Given the description of an element on the screen output the (x, y) to click on. 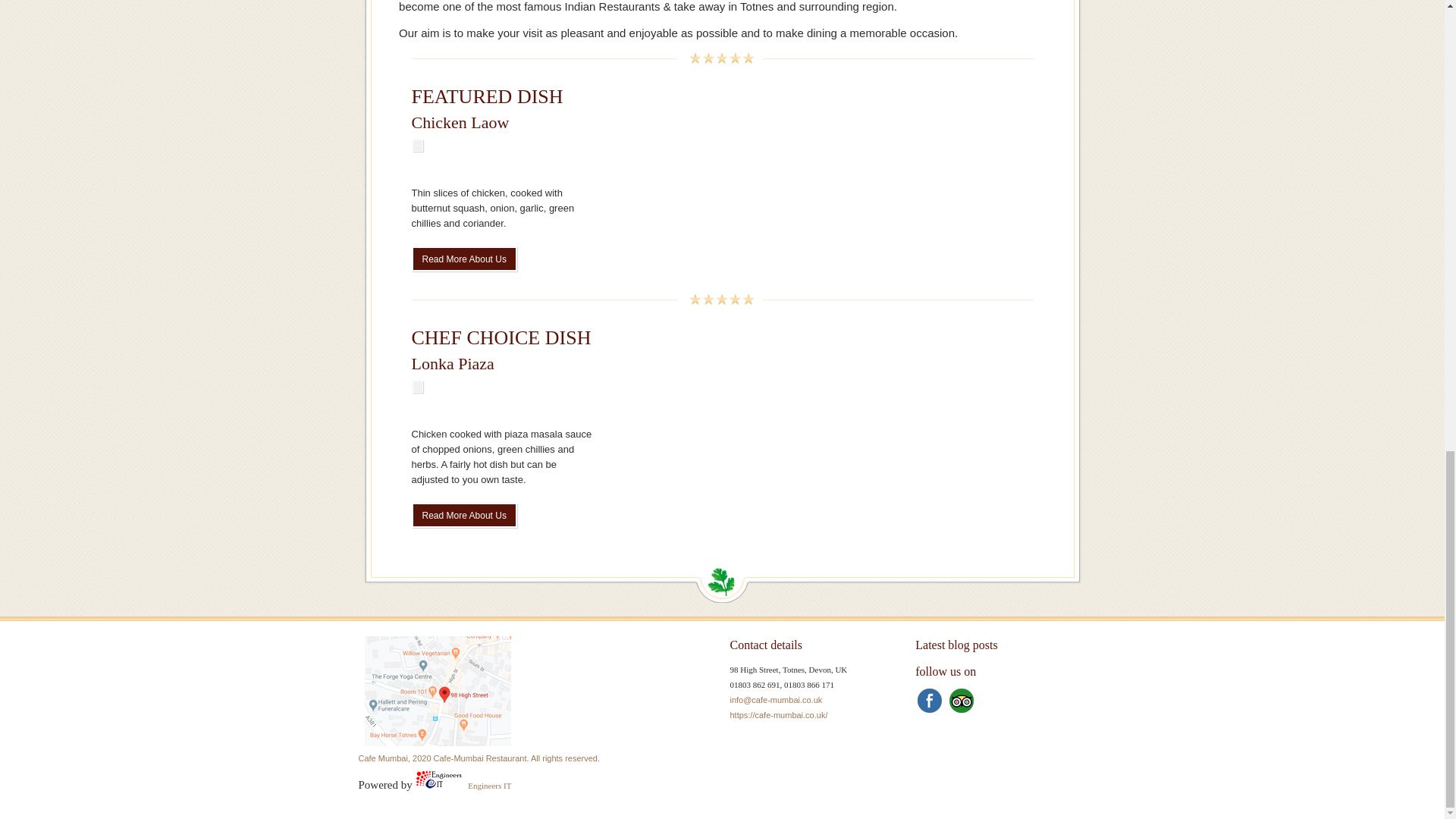
Read More About Us (463, 258)
Read More About Us (463, 514)
